Given the description of an element on the screen output the (x, y) to click on. 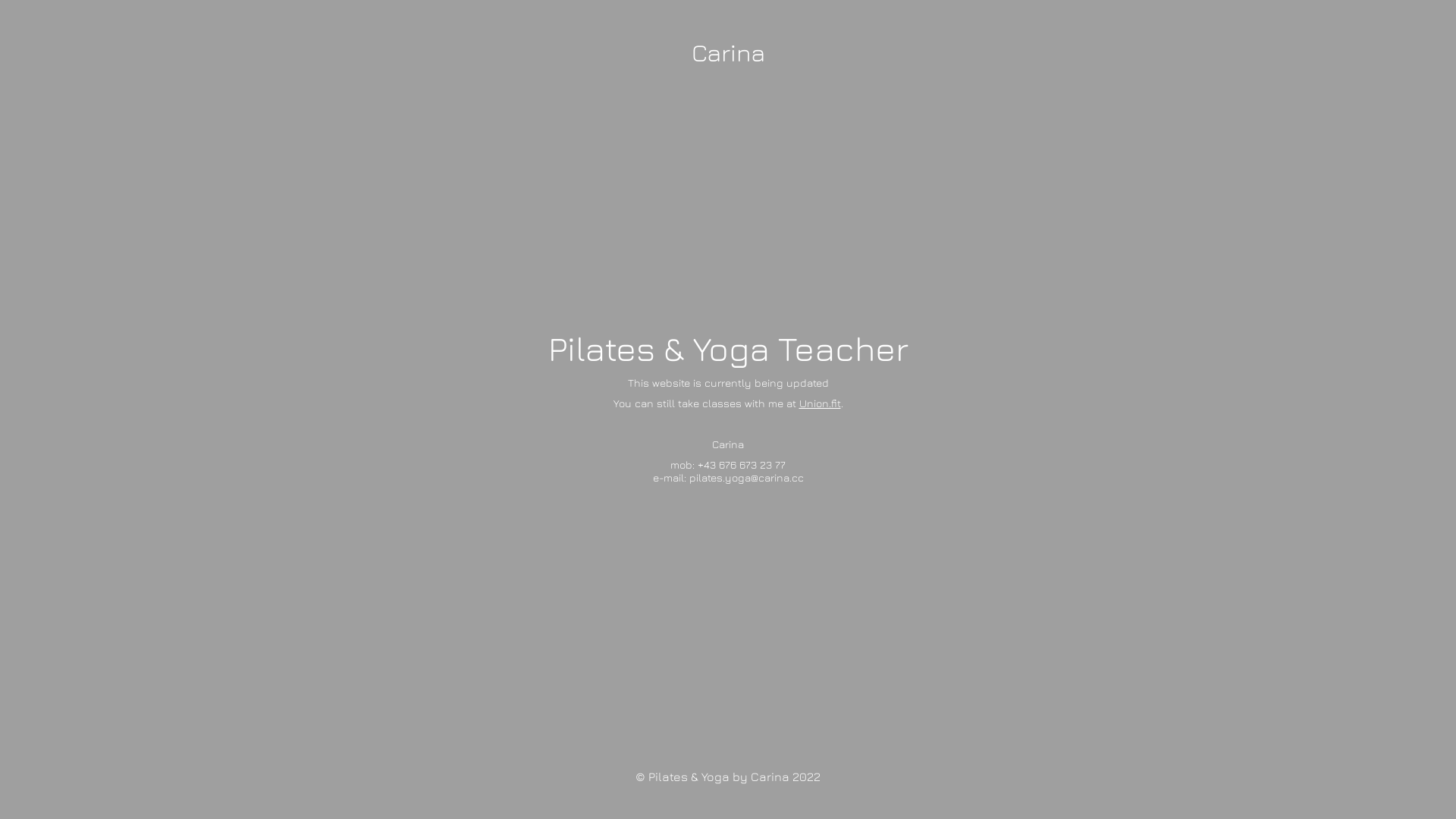
Union.fit Element type: text (819, 401)
